Given the description of an element on the screen output the (x, y) to click on. 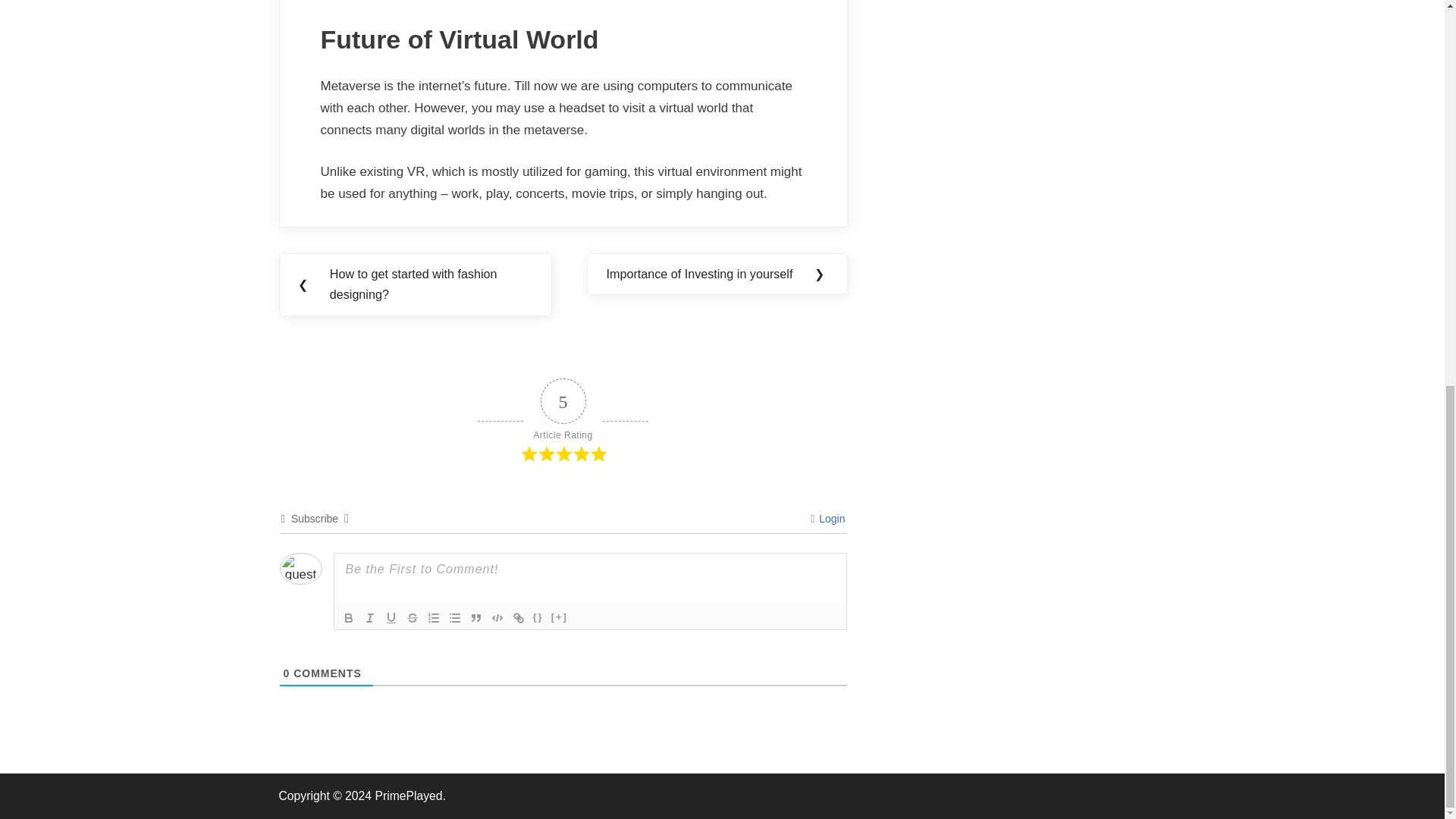
Italic (369, 618)
Bold (348, 618)
bullet (454, 618)
Spoiler (559, 618)
ordered (433, 618)
Strike (412, 618)
Source Code (538, 618)
Blockquote (475, 618)
Login (827, 518)
Underline (390, 618)
